Given the description of an element on the screen output the (x, y) to click on. 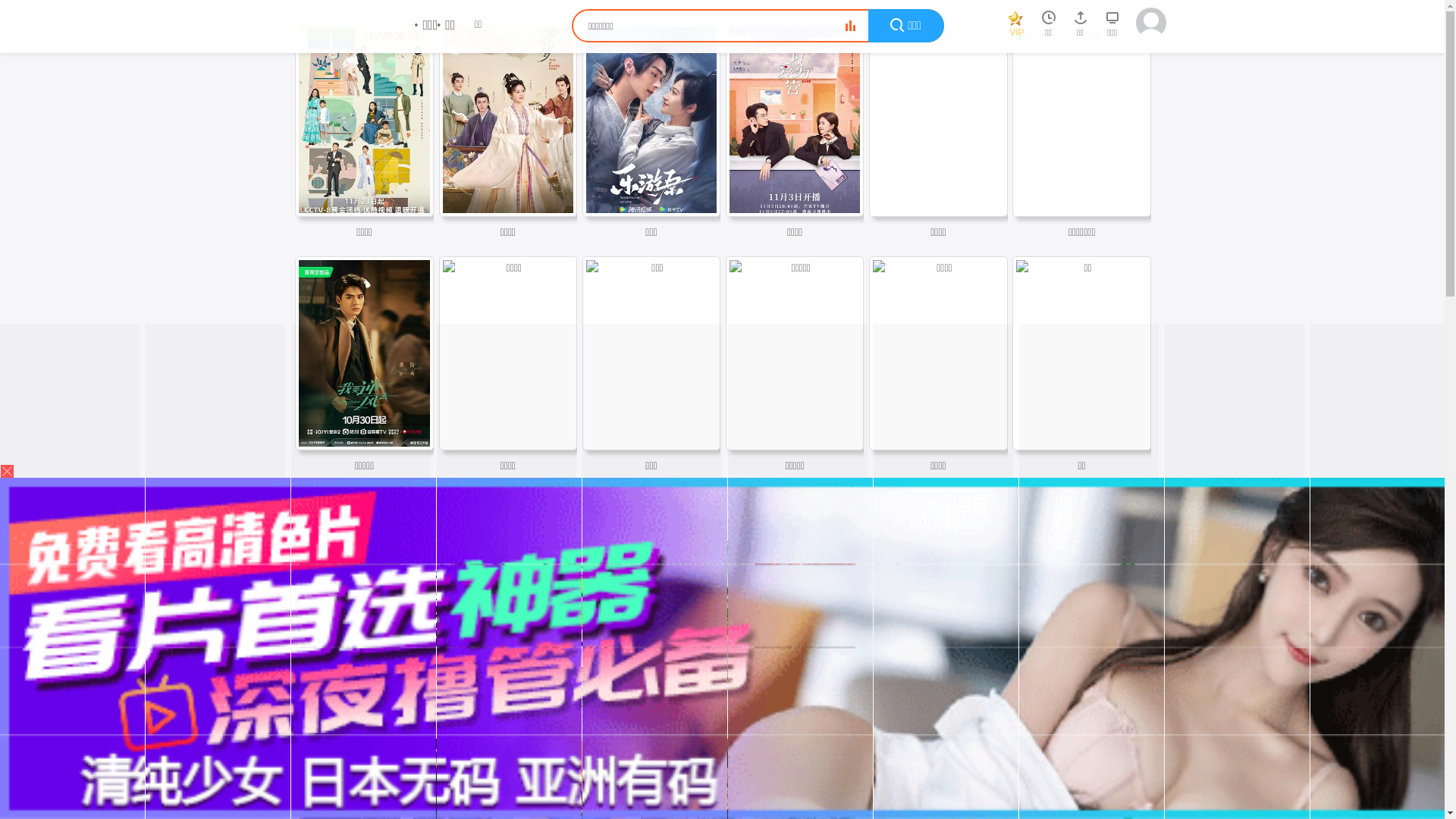
VIP Element type: text (1015, 26)
